Given the description of an element on the screen output the (x, y) to click on. 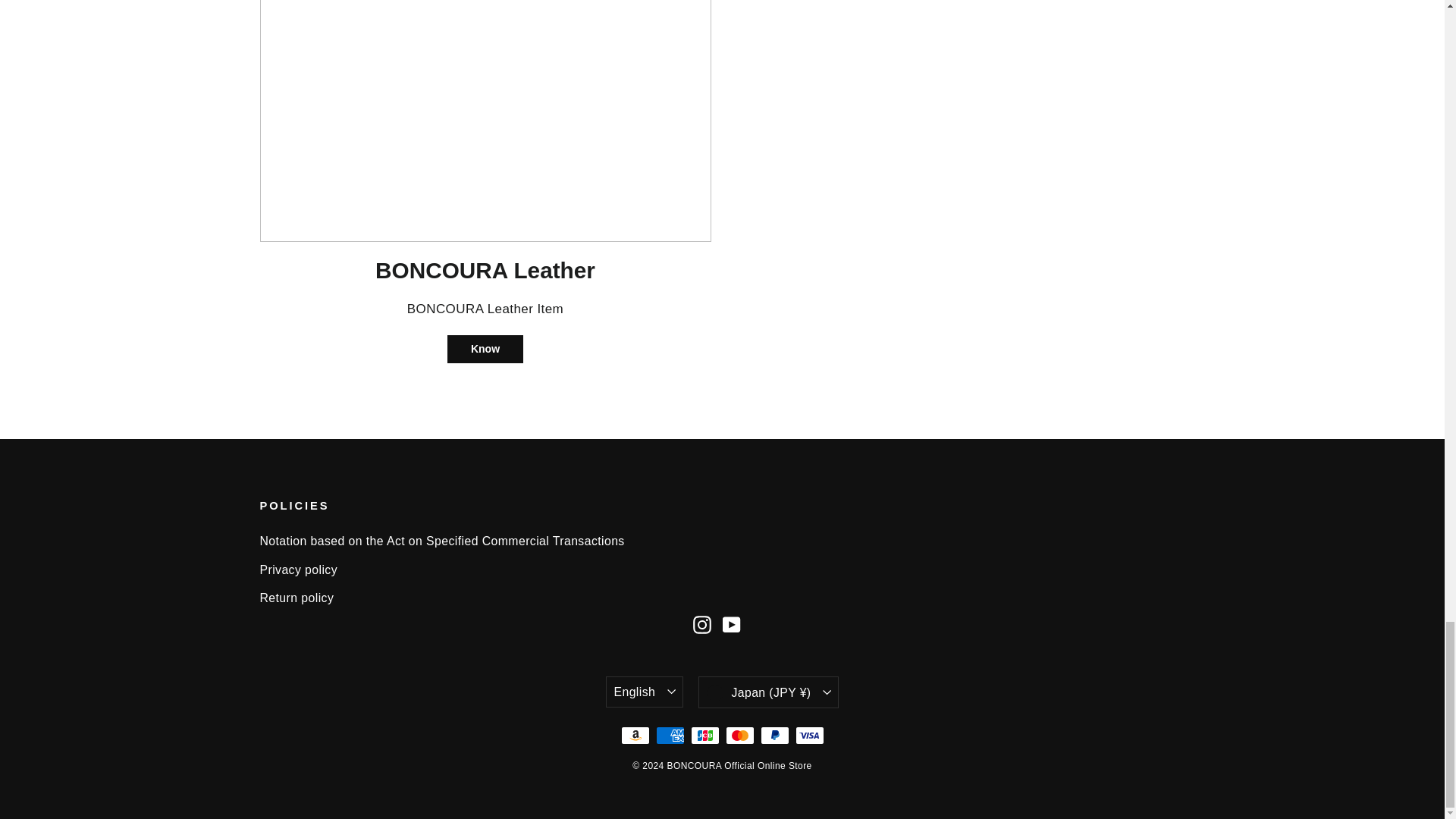
Amazon (634, 735)
JCB (704, 735)
PayPal (774, 735)
American Express (669, 735)
Mastercard (739, 735)
